Given the description of an element on the screen output the (x, y) to click on. 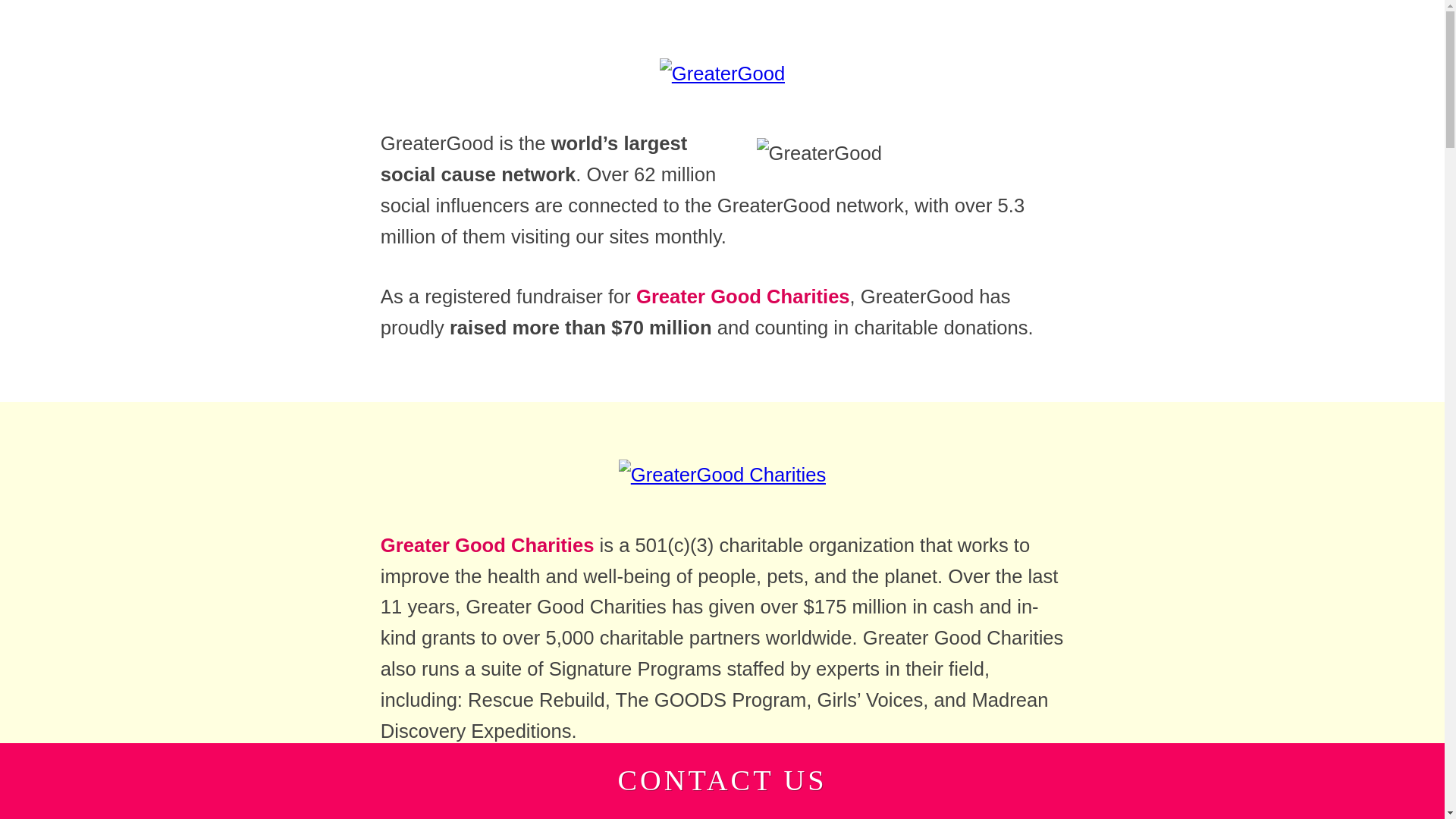
Greater Good Charities (487, 545)
Greater Good Charities (721, 474)
Greater Good Charities (743, 296)
